Given the description of an element on the screen output the (x, y) to click on. 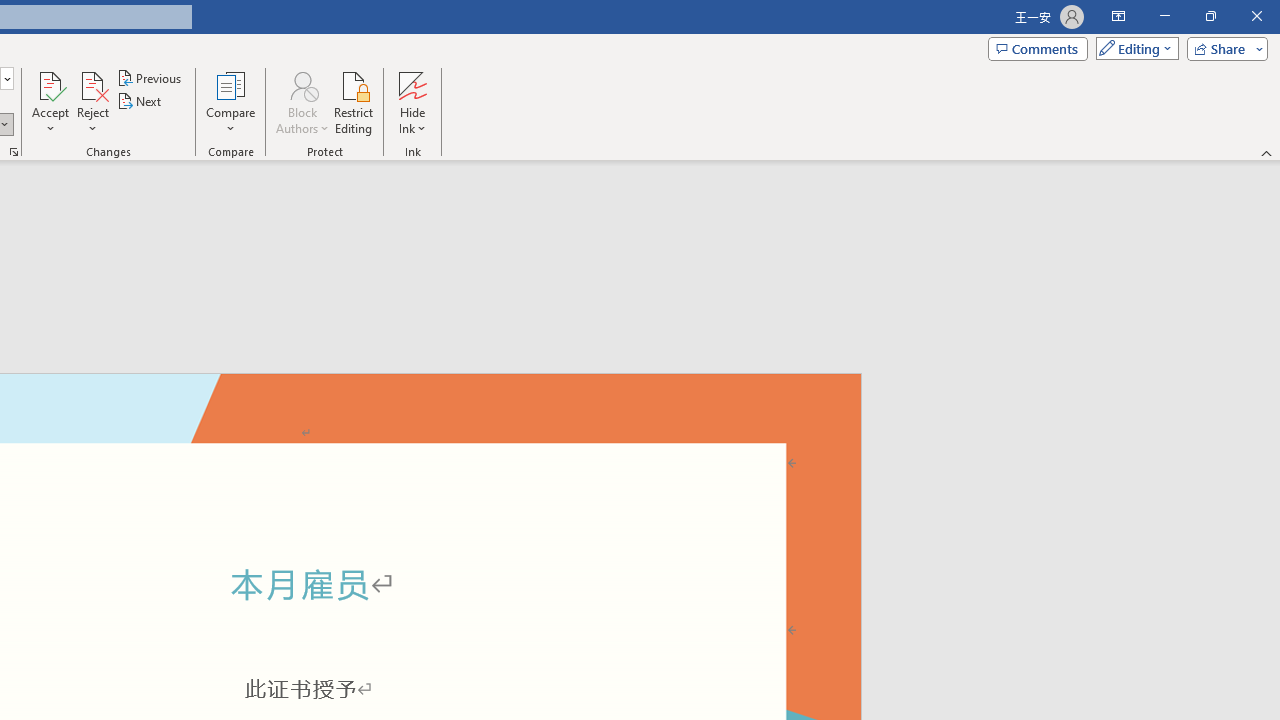
Accept and Move to Next (50, 84)
Mode (1133, 47)
Block Authors (302, 102)
Hide Ink (412, 102)
Restrict Editing (353, 102)
Minimize (1164, 16)
Compare (230, 102)
Reject (92, 102)
Open (6, 78)
Hide Ink (412, 84)
Collapse the Ribbon (1267, 152)
Block Authors (302, 84)
Close (1256, 16)
Change Tracking Options... (13, 151)
Accept (50, 102)
